Given the description of an element on the screen output the (x, y) to click on. 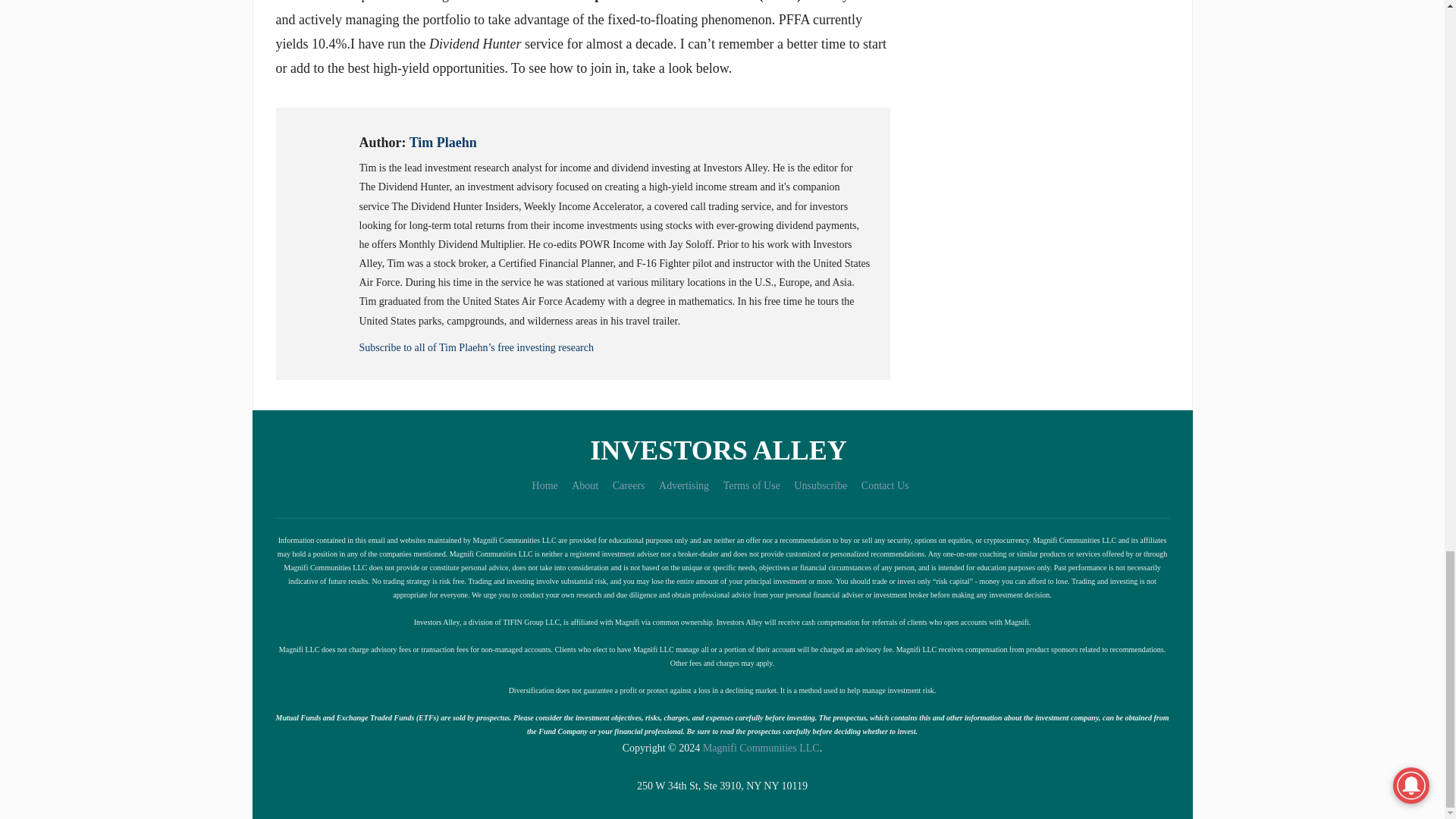
Advertising (684, 485)
About (585, 485)
Home (544, 485)
INVESTORS ALLEY (721, 450)
Careers (628, 485)
Tim Plaehn (443, 142)
Bringing the market closer to you (721, 450)
